Given the description of an element on the screen output the (x, y) to click on. 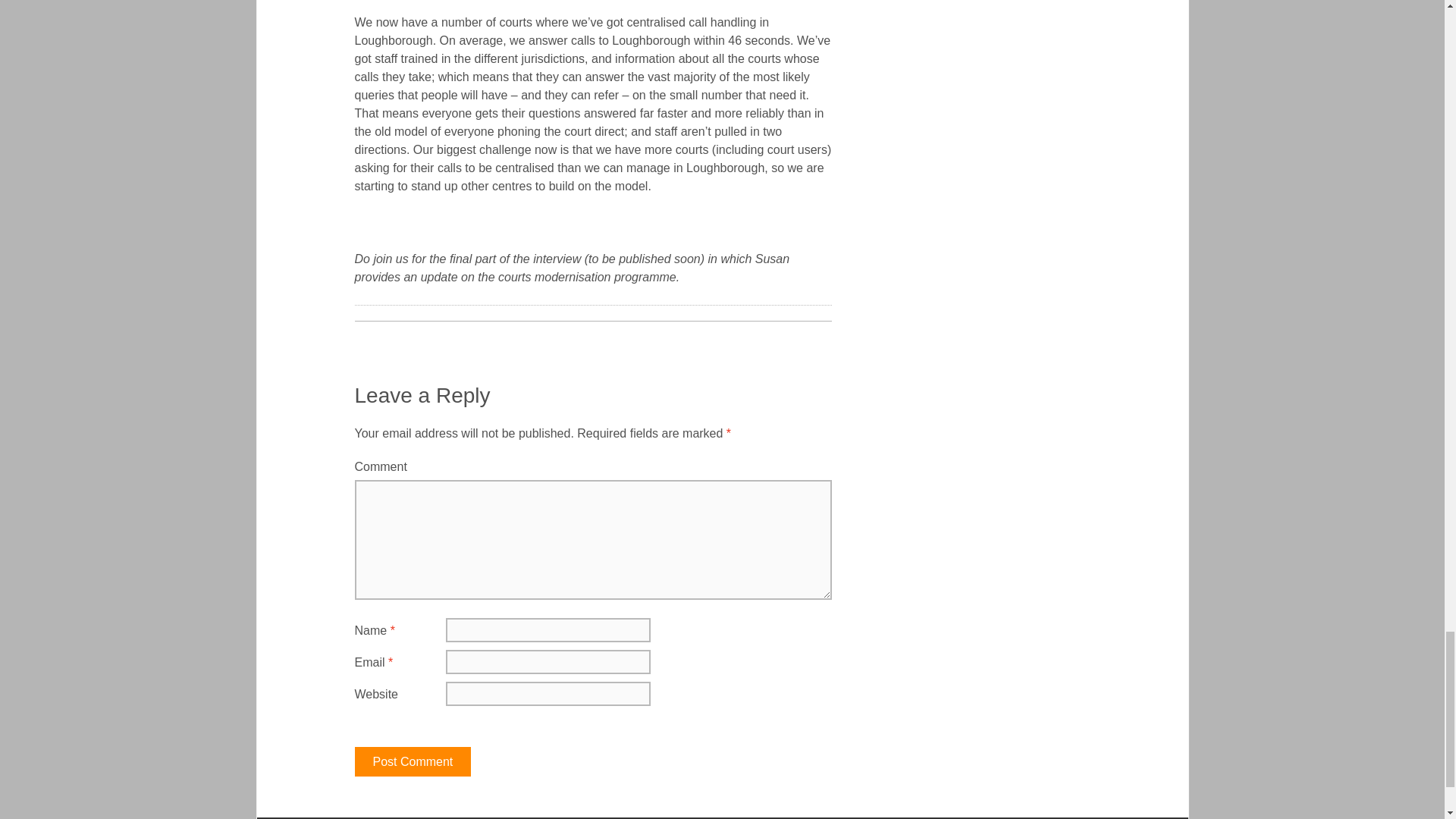
Post Comment (413, 761)
Post Comment (413, 761)
